Given the description of an element on the screen output the (x, y) to click on. 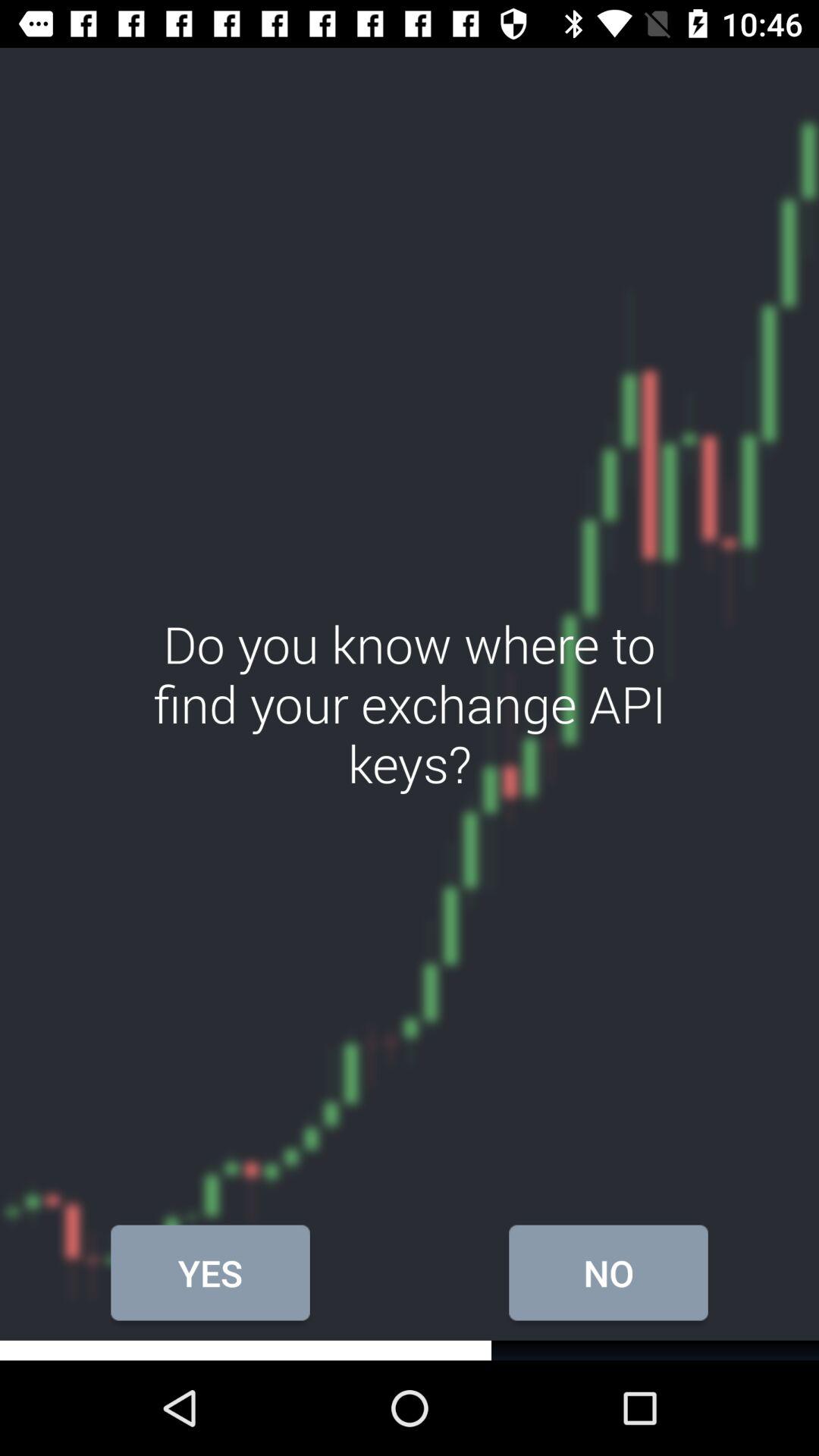
tap no icon (608, 1272)
